Given the description of an element on the screen output the (x, y) to click on. 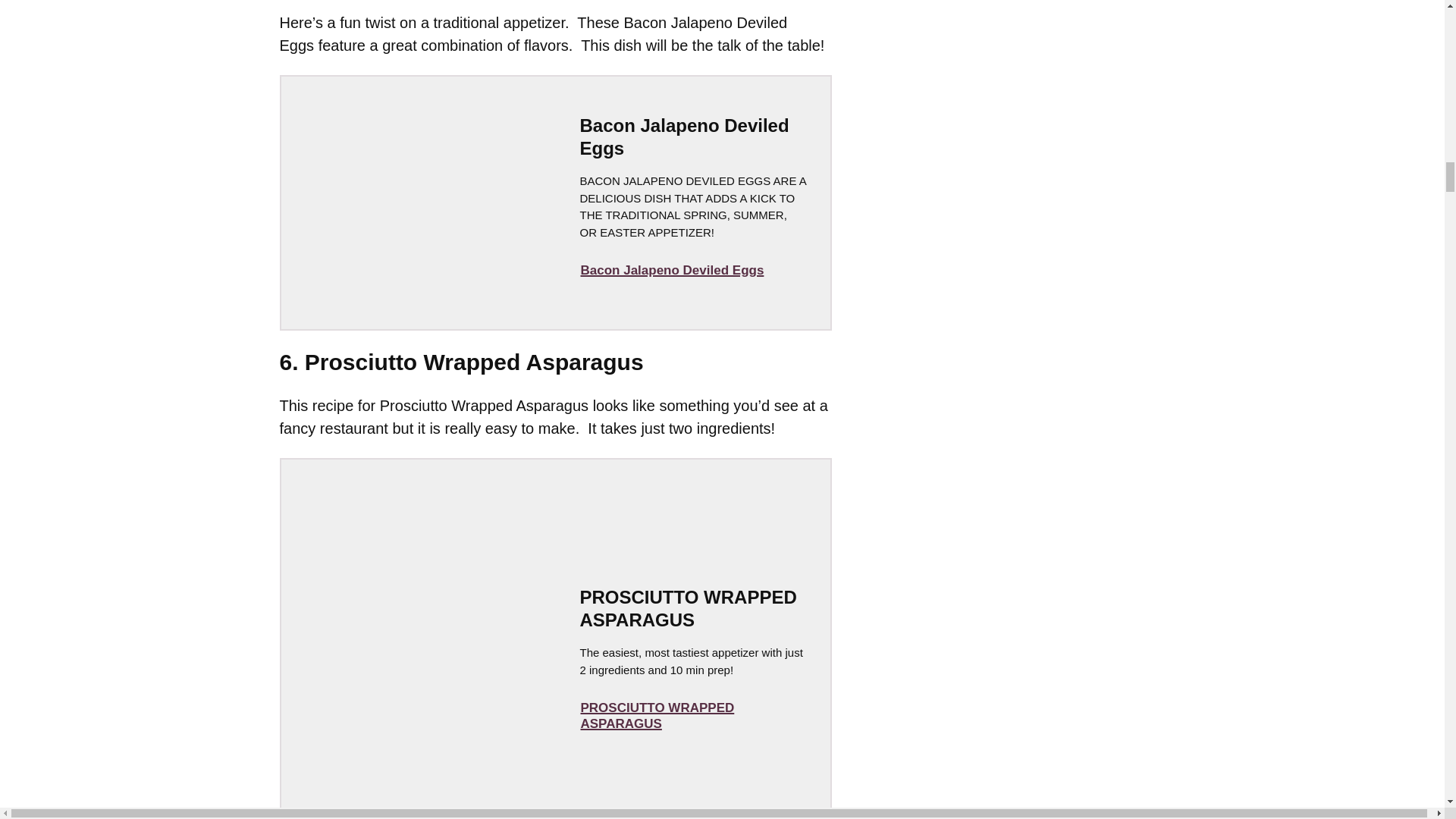
PROSCIUTTO WRAPPED ASPARAGUS (691, 715)
Bacon Jalapeno Deviled Eggs (671, 270)
